Given the description of an element on the screen output the (x, y) to click on. 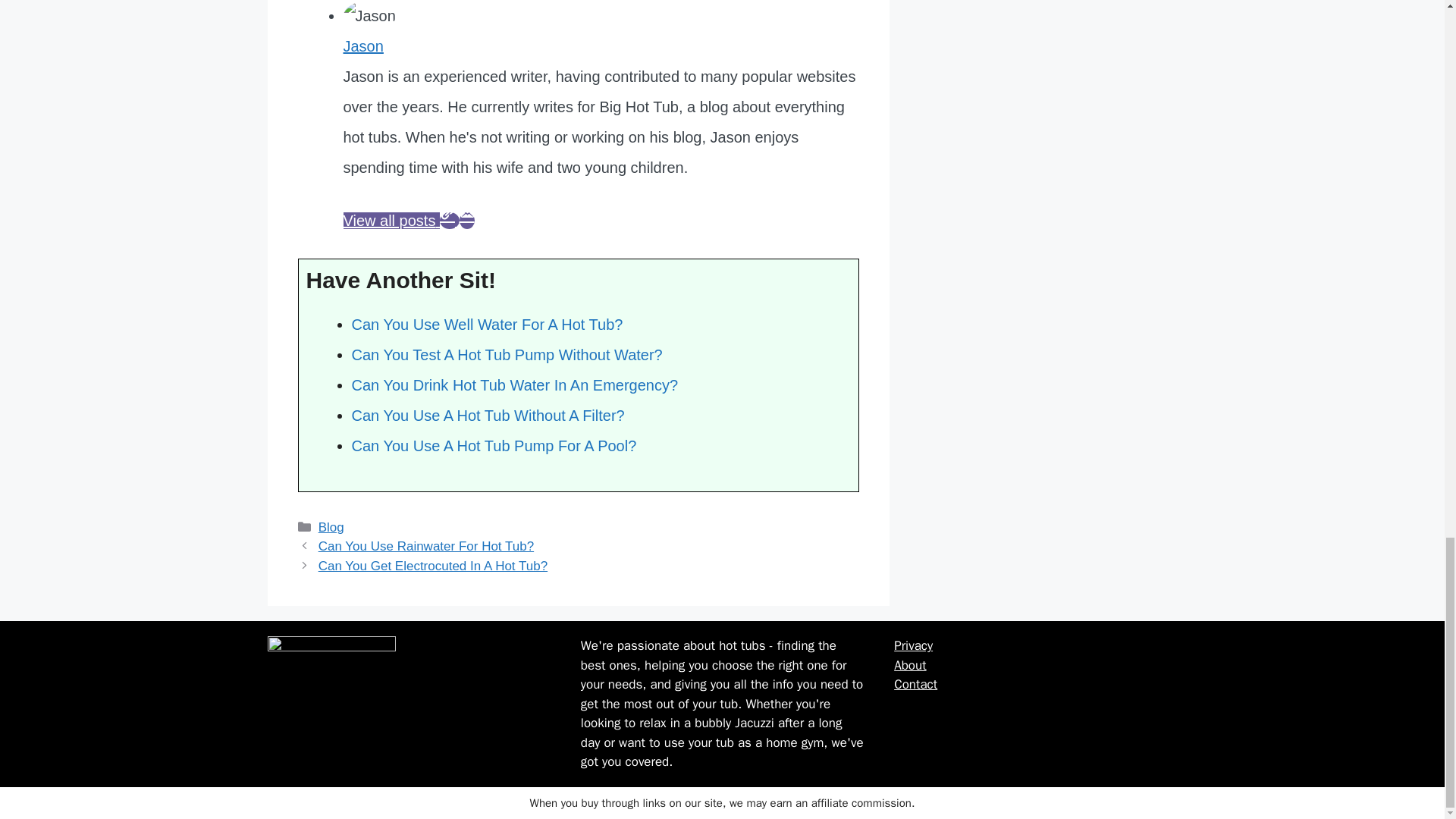
Can You Drink Hot Tub Water In An Emergency? (515, 384)
Can You Use Well Water For A Hot Tub? (487, 324)
Blog (330, 527)
View all posts (390, 220)
Can You Use A Hot Tub Without A Filter? (488, 415)
About (909, 665)
View all posts (390, 220)
Jason (362, 45)
Can You Use A Hot Tub Pump For A Pool? (494, 445)
Contact (915, 684)
